Given the description of an element on the screen output the (x, y) to click on. 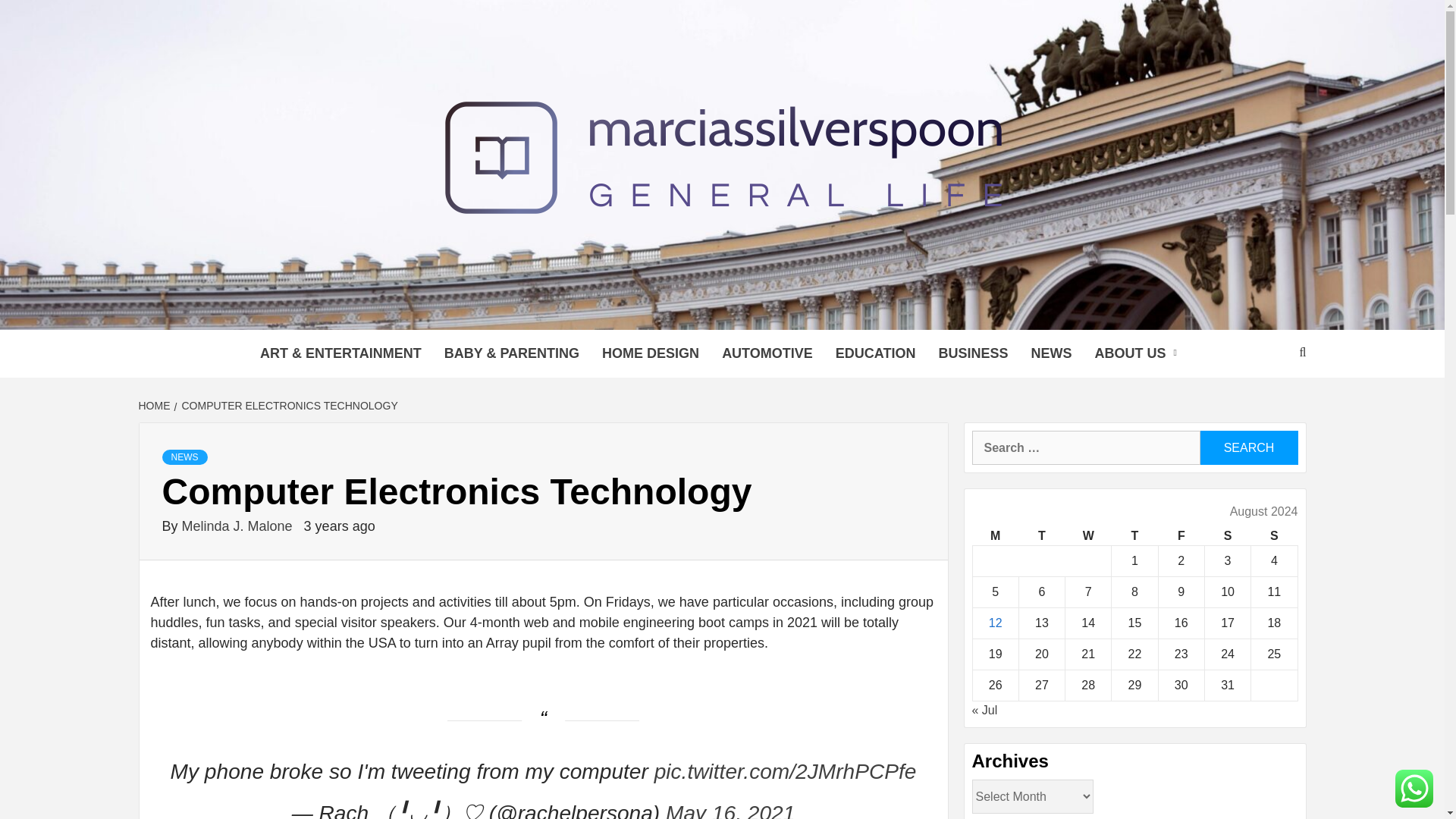
NEWS (184, 457)
COMPUTER ELECTRONICS TECHNOLOGY (287, 405)
May 16, 2021 (729, 810)
Search (1248, 447)
HOME (155, 405)
NEWS (1051, 353)
Friday (1180, 536)
Search (1248, 447)
Sunday (1273, 536)
BUSINESS (972, 353)
